Given the description of an element on the screen output the (x, y) to click on. 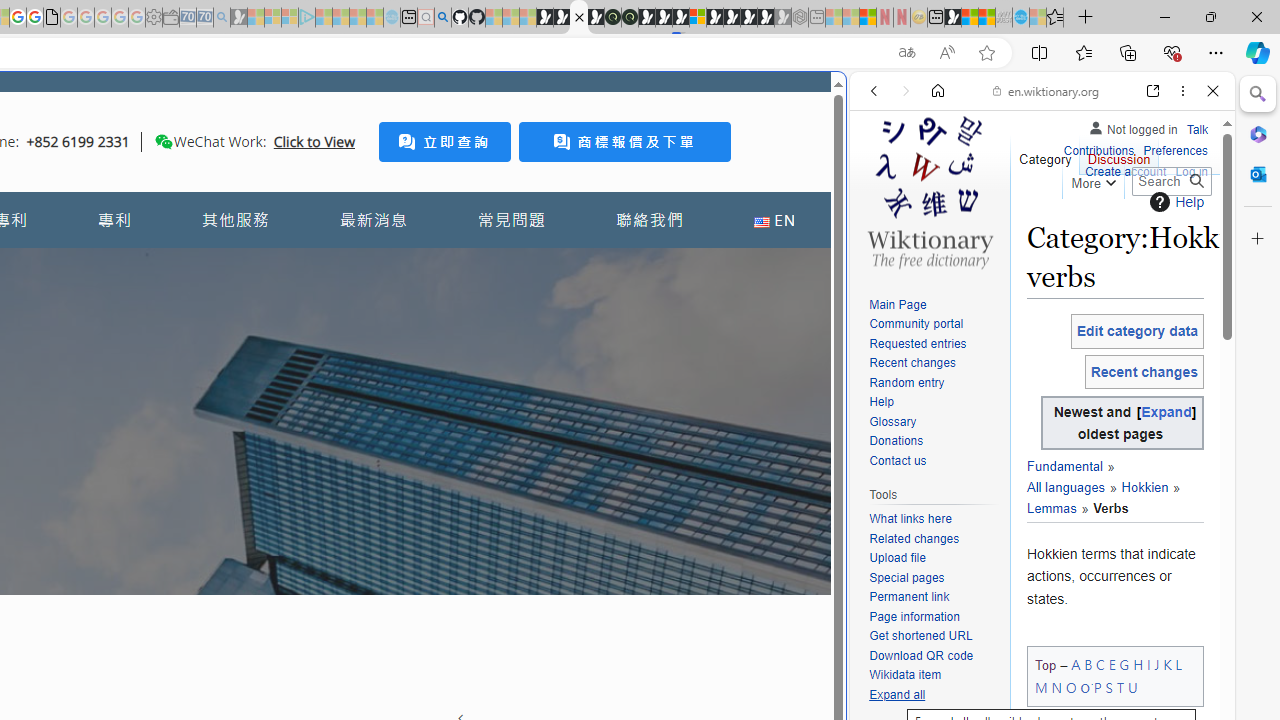
Hokkien (1144, 488)
Show translate options (906, 53)
Fundamental (1064, 467)
Log in (1191, 169)
github - Search (442, 17)
U (1132, 687)
Verbs (1102, 507)
EN (774, 220)
Settings - Sleeping (153, 17)
